Given the description of an element on the screen output the (x, y) to click on. 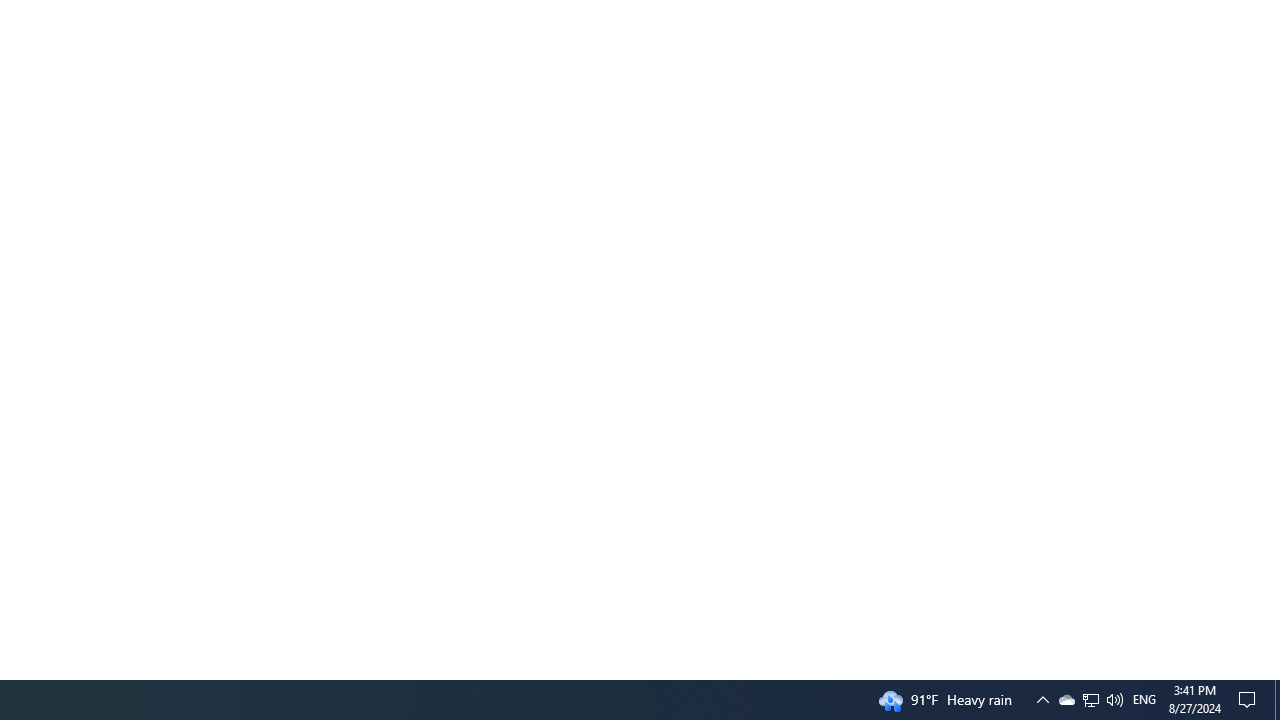
Tray Input Indicator - English (United States) (1144, 699)
